Given the description of an element on the screen output the (x, y) to click on. 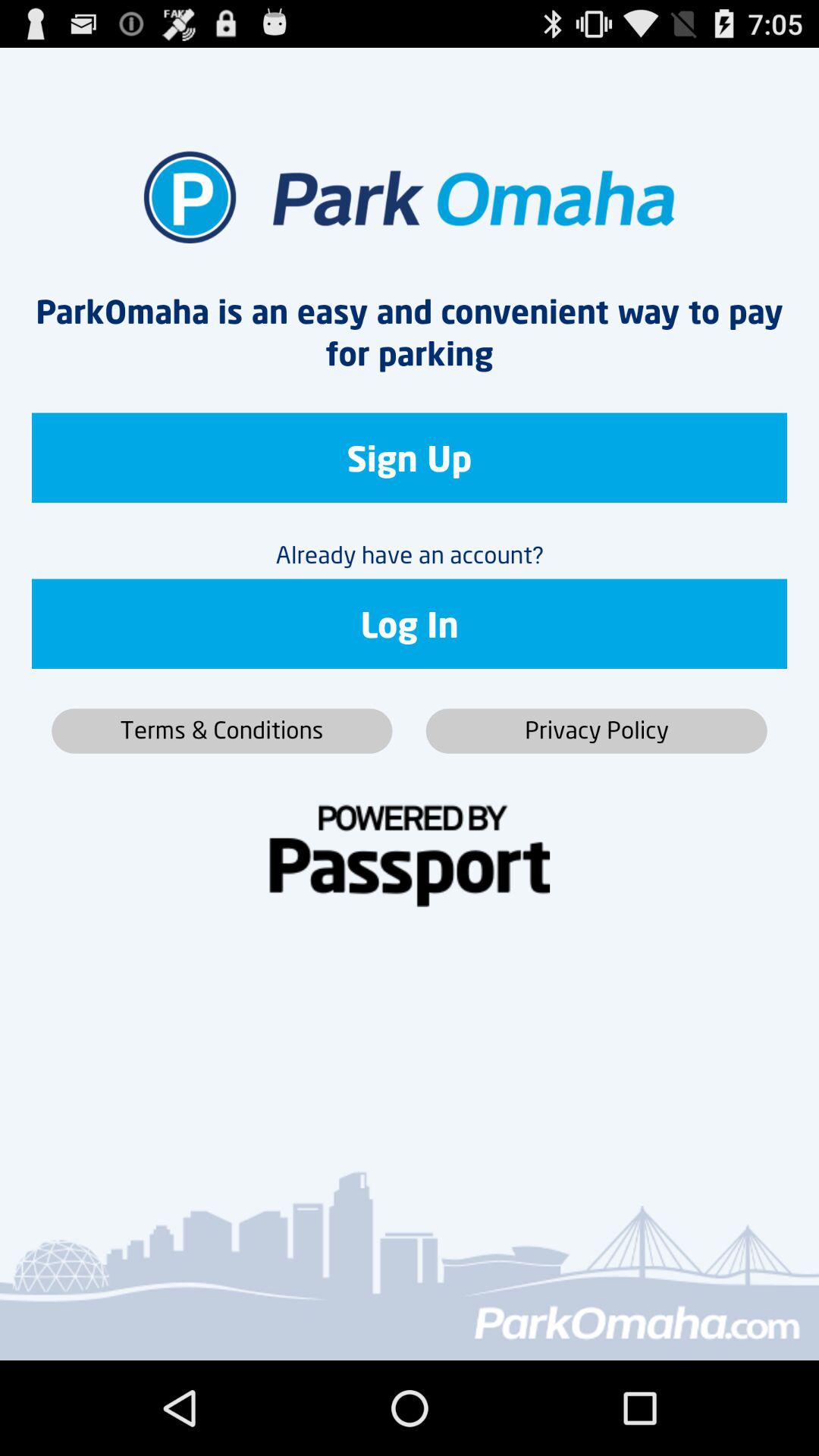
scroll to the terms & conditions item (221, 730)
